Given the description of an element on the screen output the (x, y) to click on. 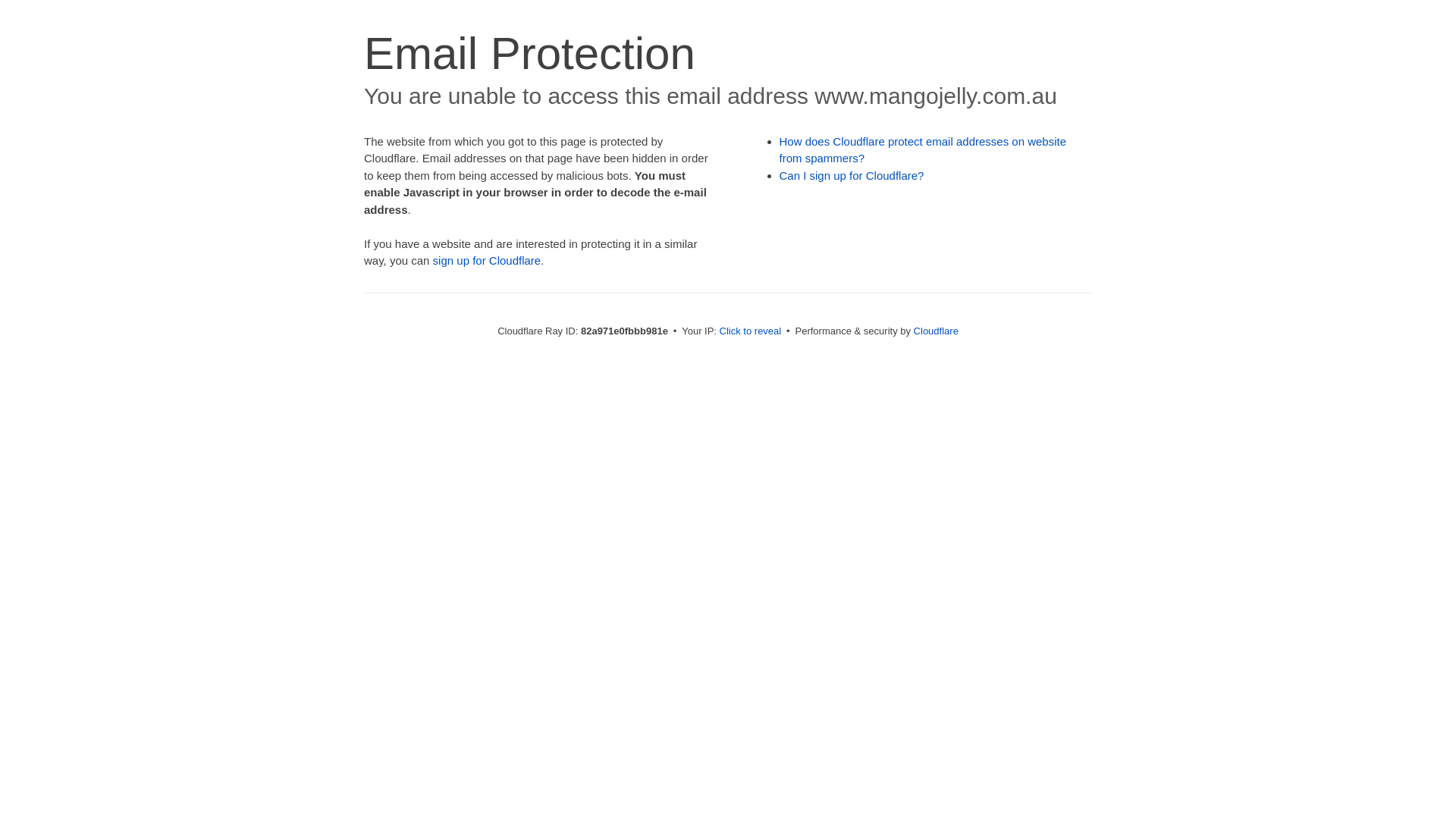
Click to reveal Element type: text (750, 330)
sign up for Cloudflare Element type: text (487, 260)
Cloudflare Element type: text (935, 330)
Can I sign up for Cloudflare? Element type: text (851, 175)
